Given the description of an element on the screen output the (x, y) to click on. 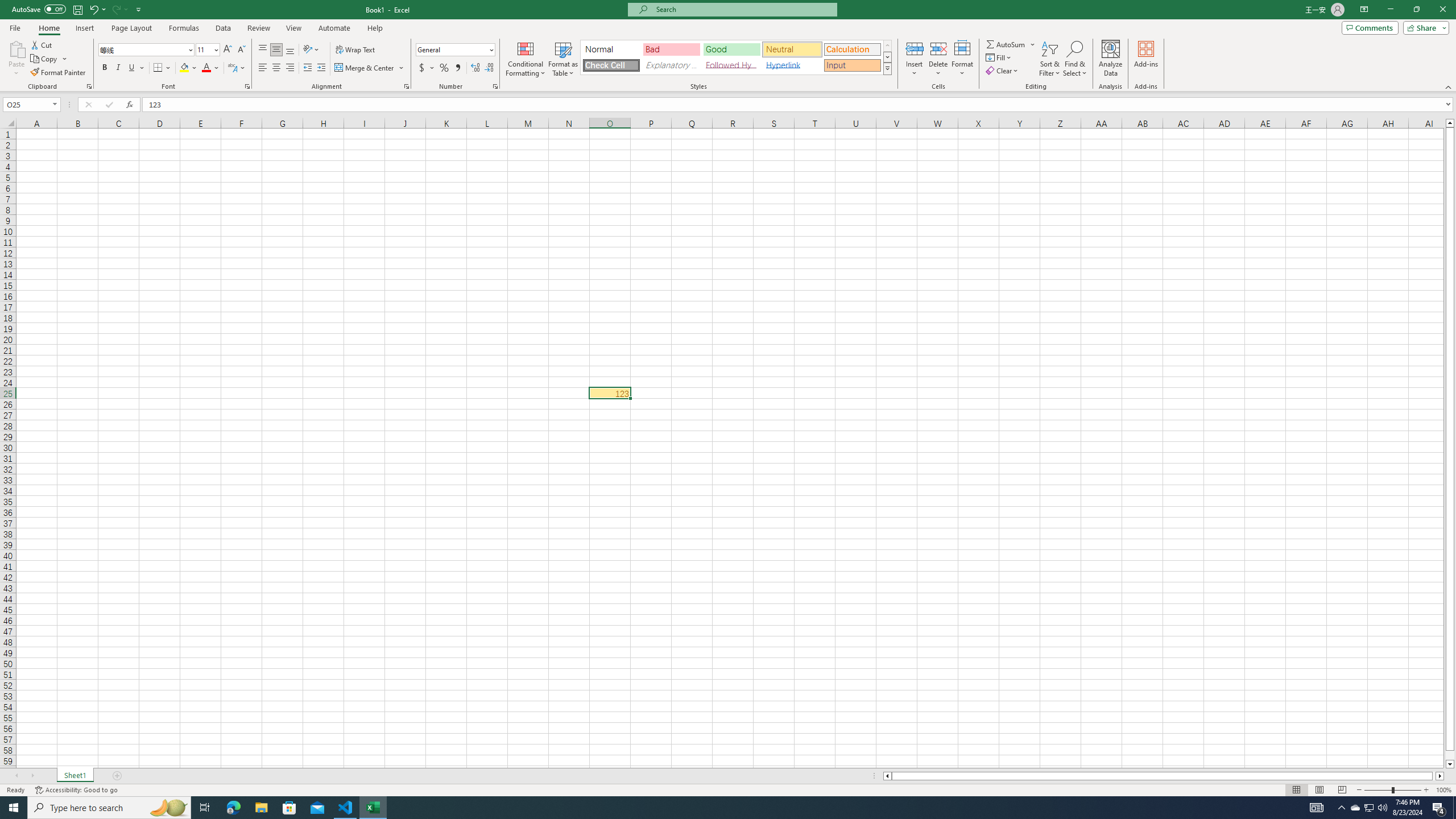
Underline (131, 67)
Page Layout (1318, 790)
Good (731, 49)
Class: NetUIScrollBar (1163, 775)
Insert Cells (914, 48)
Analyze Data (1110, 58)
Normal (1296, 790)
Sheet1 (74, 775)
Undo (96, 9)
Fill Color (188, 67)
Cell Styles (887, 68)
Font Color RGB(255, 0, 0) (206, 67)
Align Left (262, 67)
Font Size (207, 49)
Page right (1433, 775)
